Given the description of an element on the screen output the (x, y) to click on. 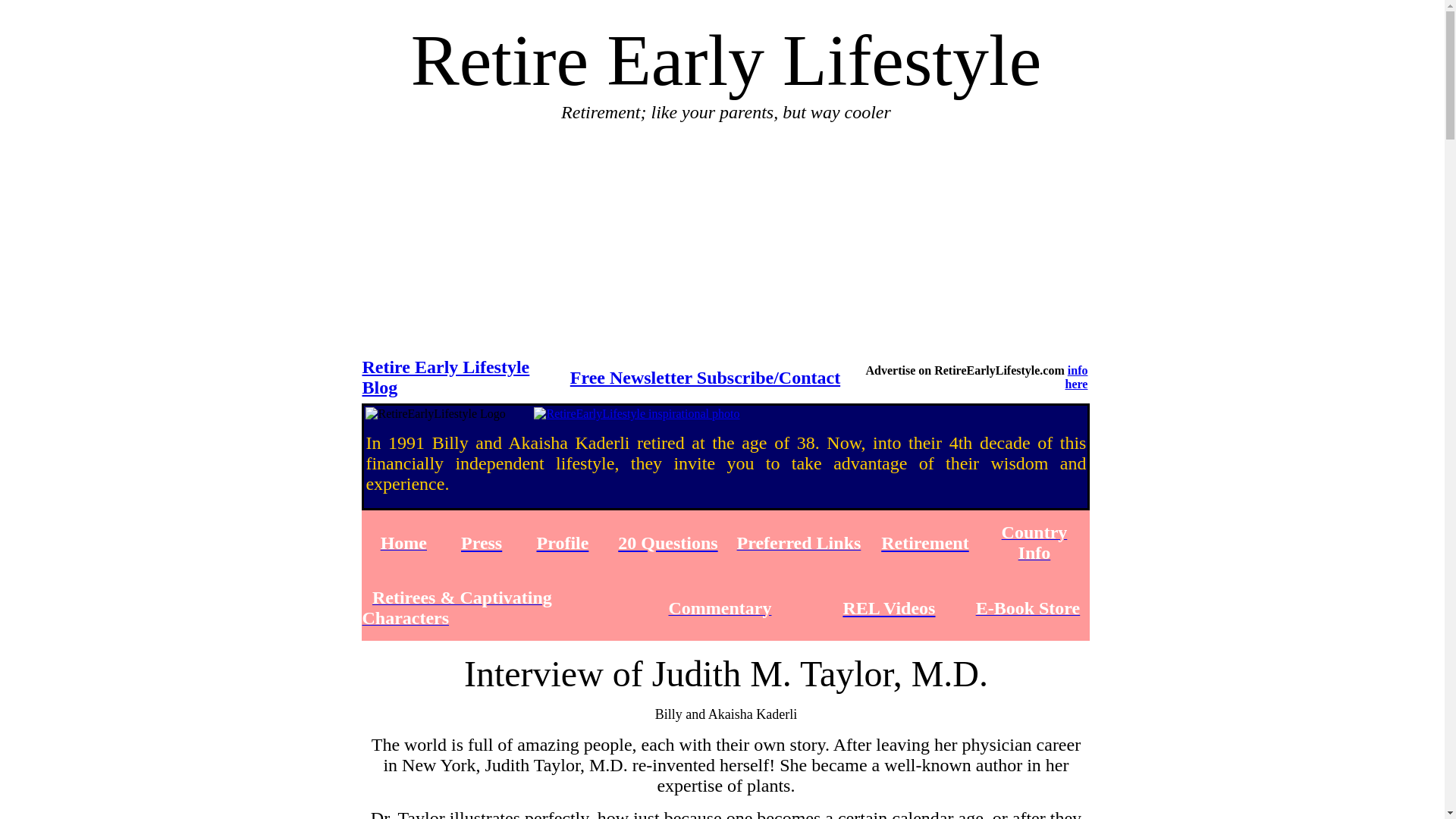
E-Book Store (1027, 609)
Retirement (924, 542)
Country Info (1034, 544)
Home (403, 544)
Profile (563, 542)
Retire Early Lifestyle Blog (445, 377)
REL Videos (888, 607)
Press (481, 542)
Preferred Links (798, 544)
Commentary (719, 609)
